Given the description of an element on the screen output the (x, y) to click on. 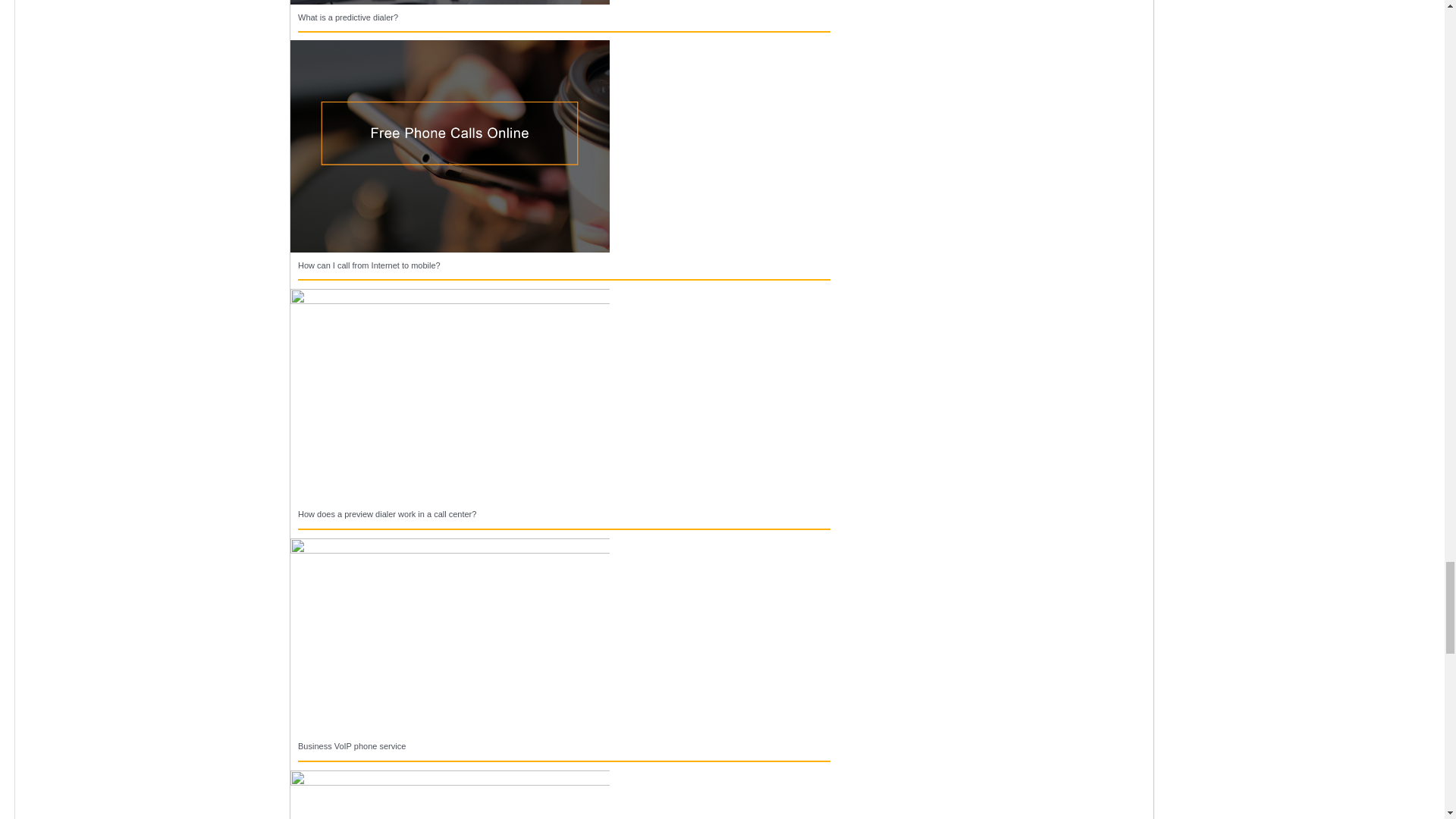
How does a preview dialer work in a call center? (449, 393)
How can I call from Internet to mobile? (369, 265)
What is a predictive dialer? (347, 17)
Business VoIP phone service (449, 634)
How can I call from Internet to mobile? (449, 144)
How does a preview dialer work in a call center? (387, 513)
Business VoIP phone service (352, 746)
